Given the description of an element on the screen output the (x, y) to click on. 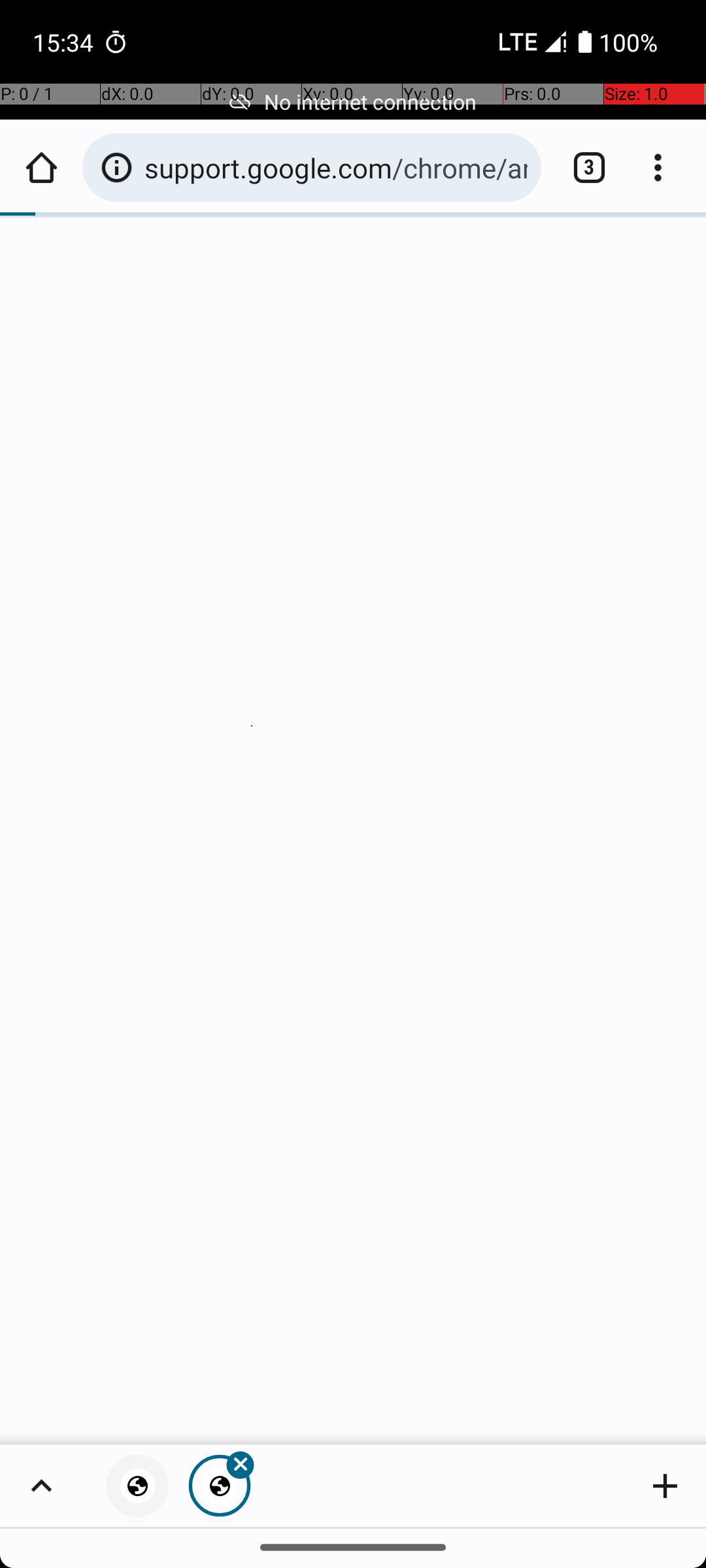
Show group's tabs in fullscreen grid Element type: android.widget.ImageView (41, 1485)
Add new tab to group Element type: android.widget.ImageView (664, 1485)
support.google.com/chrome/answer/6098869#-201 Element type: android.widget.EditText (335, 167)
Privacy error, tab Element type: android.widget.ImageButton (137, 1485)
Close  tab Element type: android.widget.ImageButton (219, 1485)
